Given the description of an element on the screen output the (x, y) to click on. 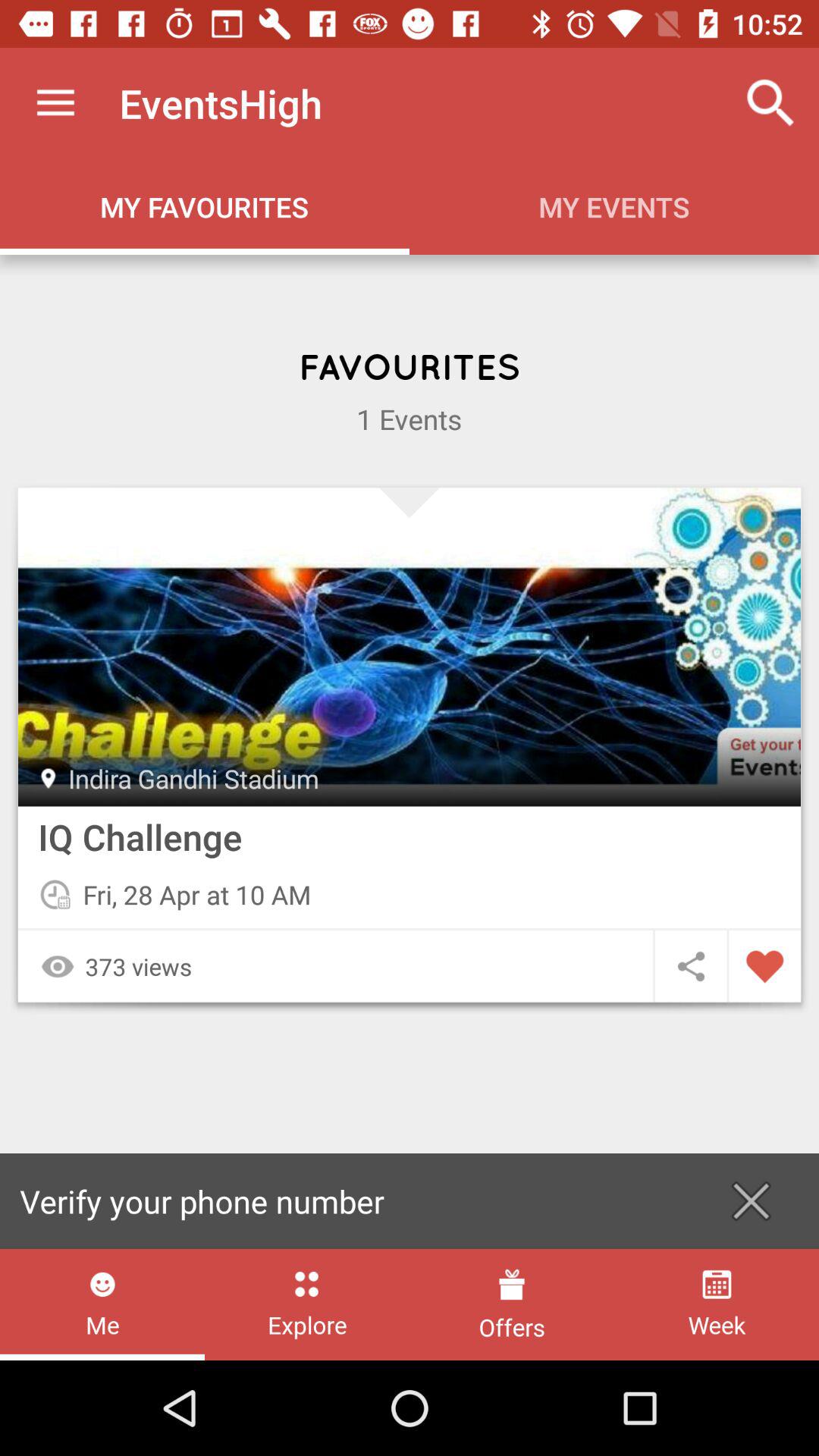
flip until the offers (511, 1304)
